Given the description of an element on the screen output the (x, y) to click on. 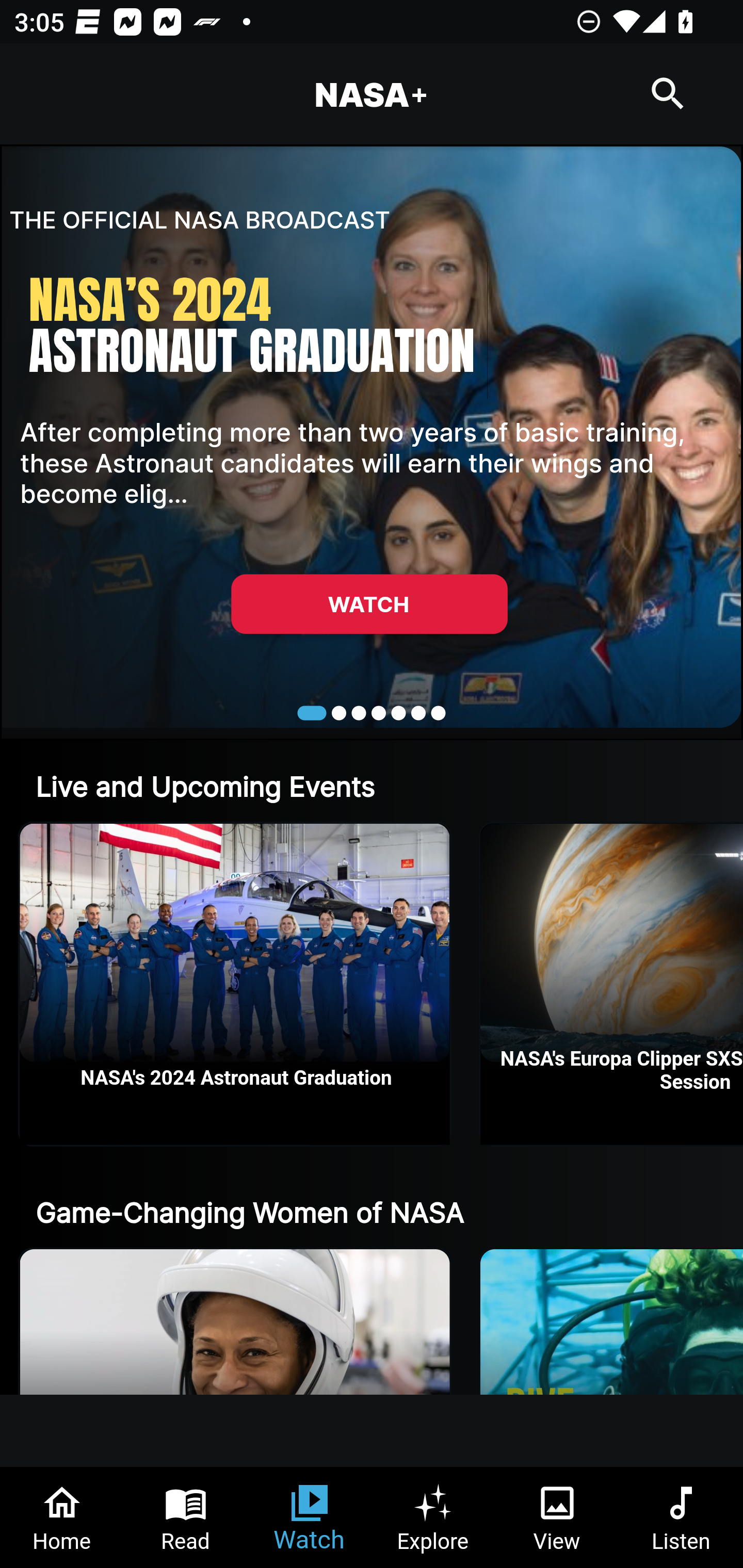
WATCH (369, 603)
NASA's 2024 Astronaut Graduation (235, 983)
NASA's Europa Clipper SXSW 2024 Opening Session (611, 983)
Home
Tab 1 of 6 (62, 1517)
Read
Tab 2 of 6 (185, 1517)
Watch
Tab 3 of 6 (309, 1517)
Explore
Tab 4 of 6 (433, 1517)
View
Tab 5 of 6 (556, 1517)
Listen
Tab 6 of 6 (680, 1517)
